Given the description of an element on the screen output the (x, y) to click on. 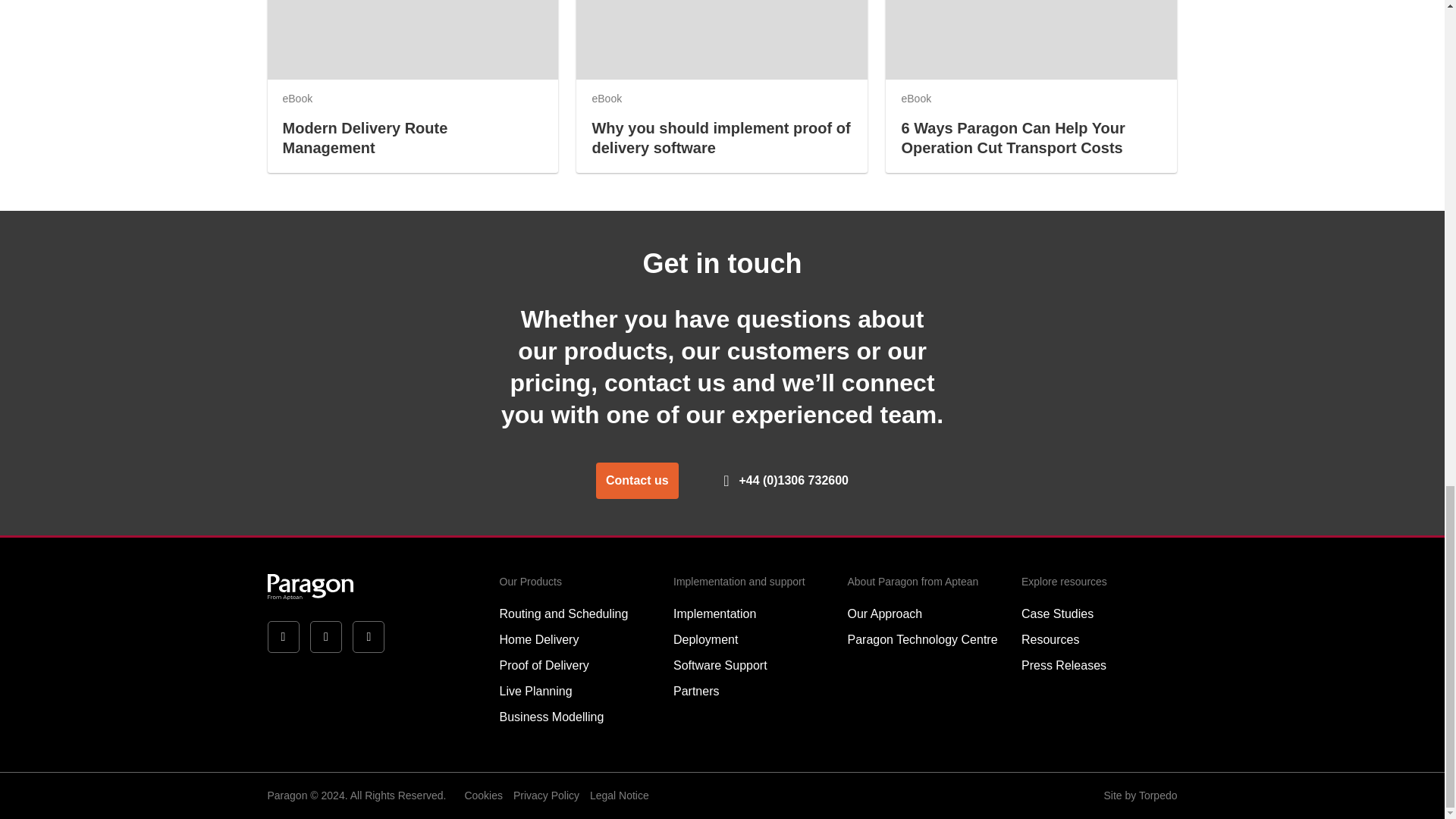
Linkedin (325, 636)
YouTube (368, 636)
Twitter (282, 636)
